Given the description of an element on the screen output the (x, y) to click on. 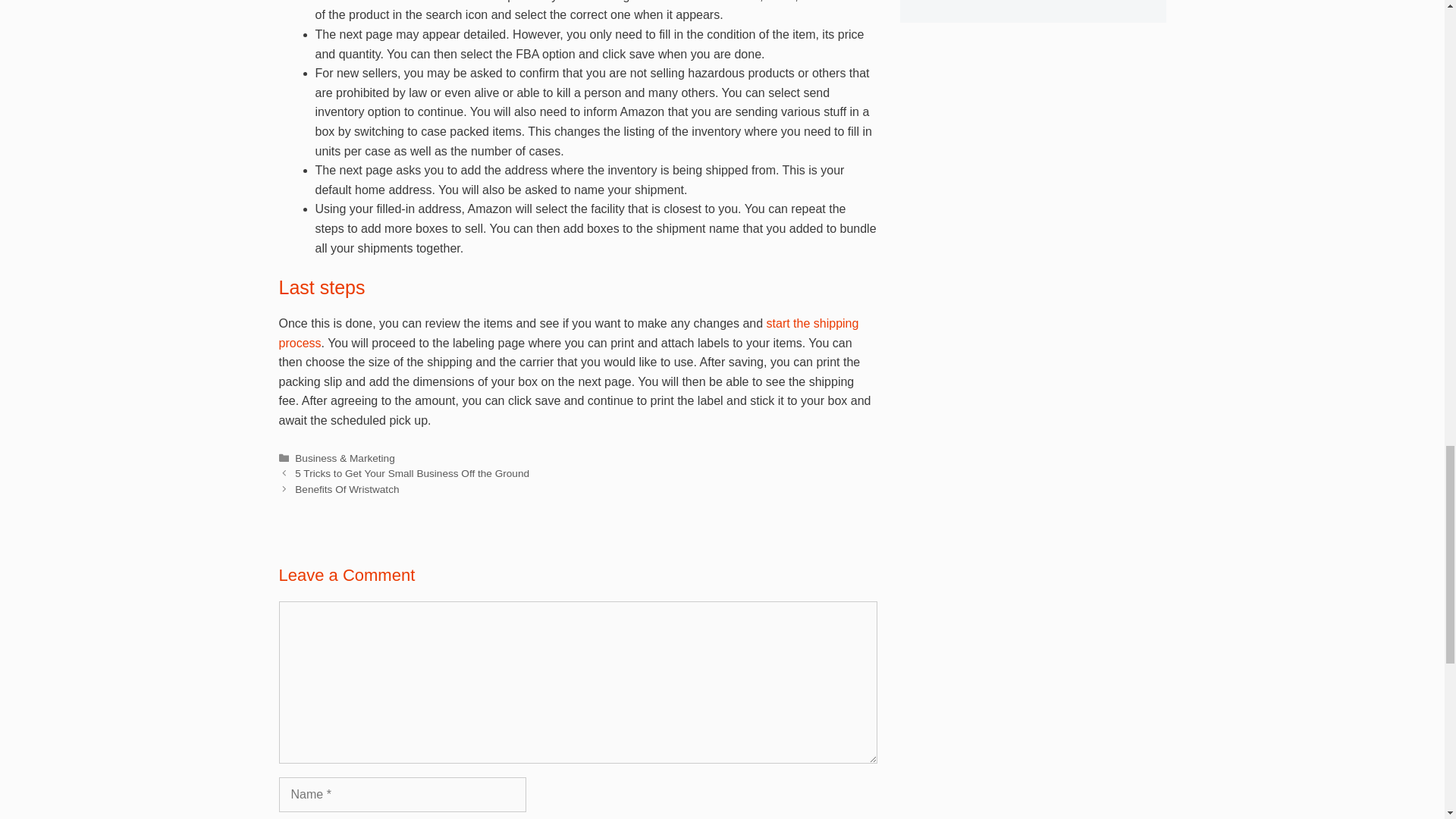
5 Tricks to Get Your Small Business Off the Ground (412, 473)
Benefits Of Wristwatch (346, 489)
start the shipping process (569, 332)
